Given the description of an element on the screen output the (x, y) to click on. 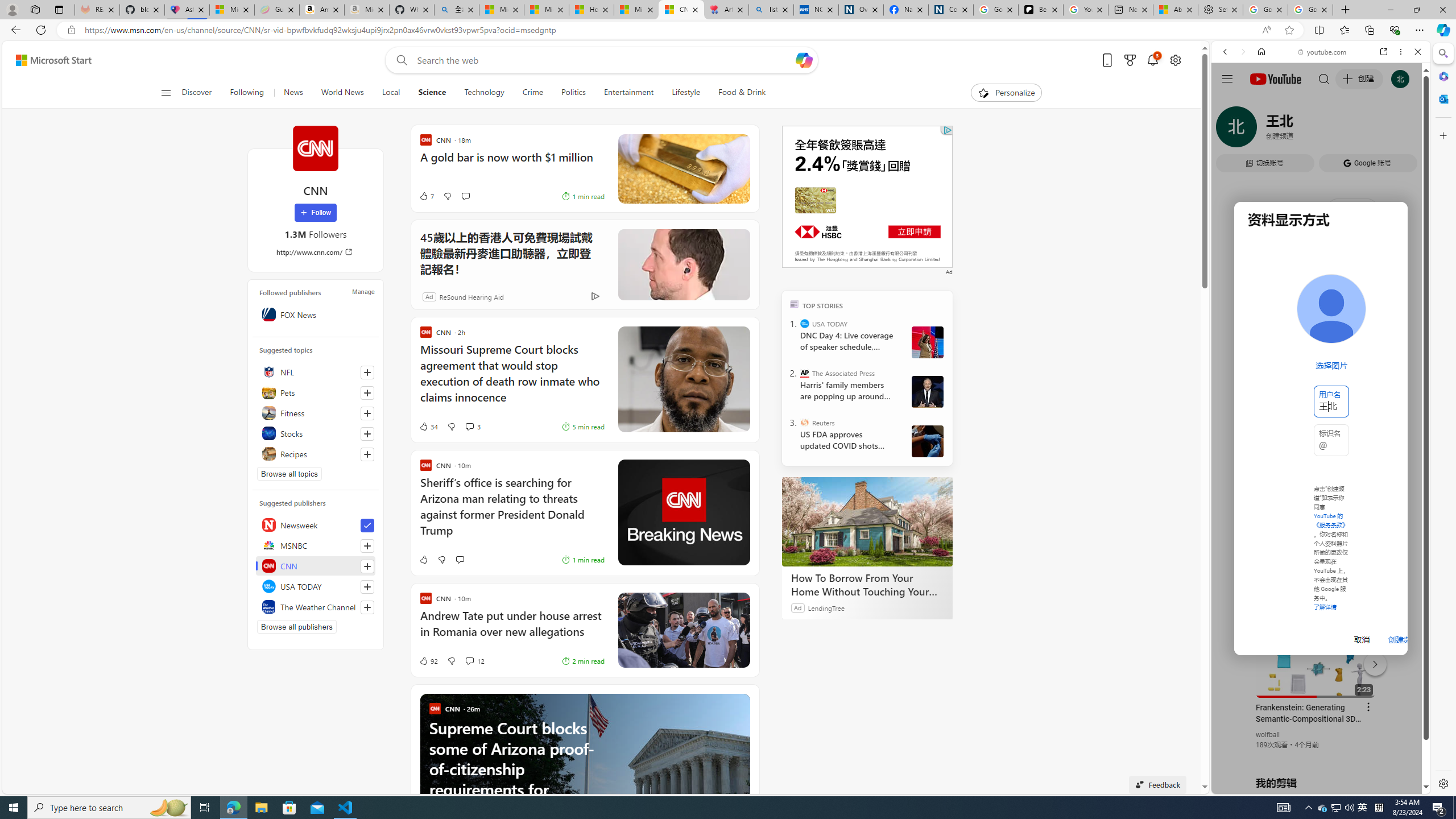
View comments 12 Comment (474, 661)
